Given the description of an element on the screen output the (x, y) to click on. 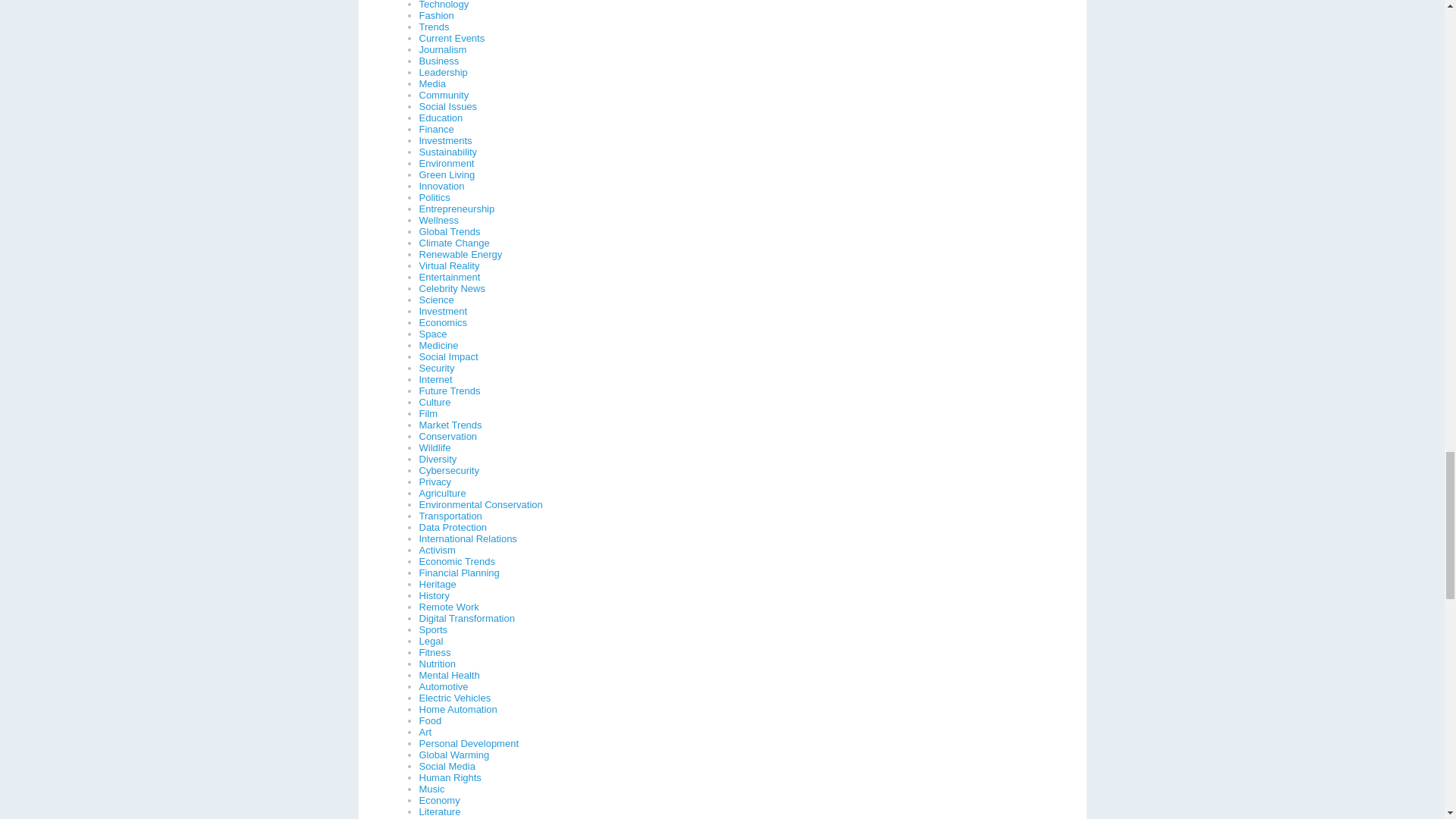
Trends (433, 26)
Environment (446, 163)
Finance (435, 129)
Leadership (443, 71)
Current Events (451, 38)
Social Issues (448, 106)
Education (441, 117)
Sustainability (448, 152)
Community (443, 94)
Investments (445, 140)
